Given the description of an element on the screen output the (x, y) to click on. 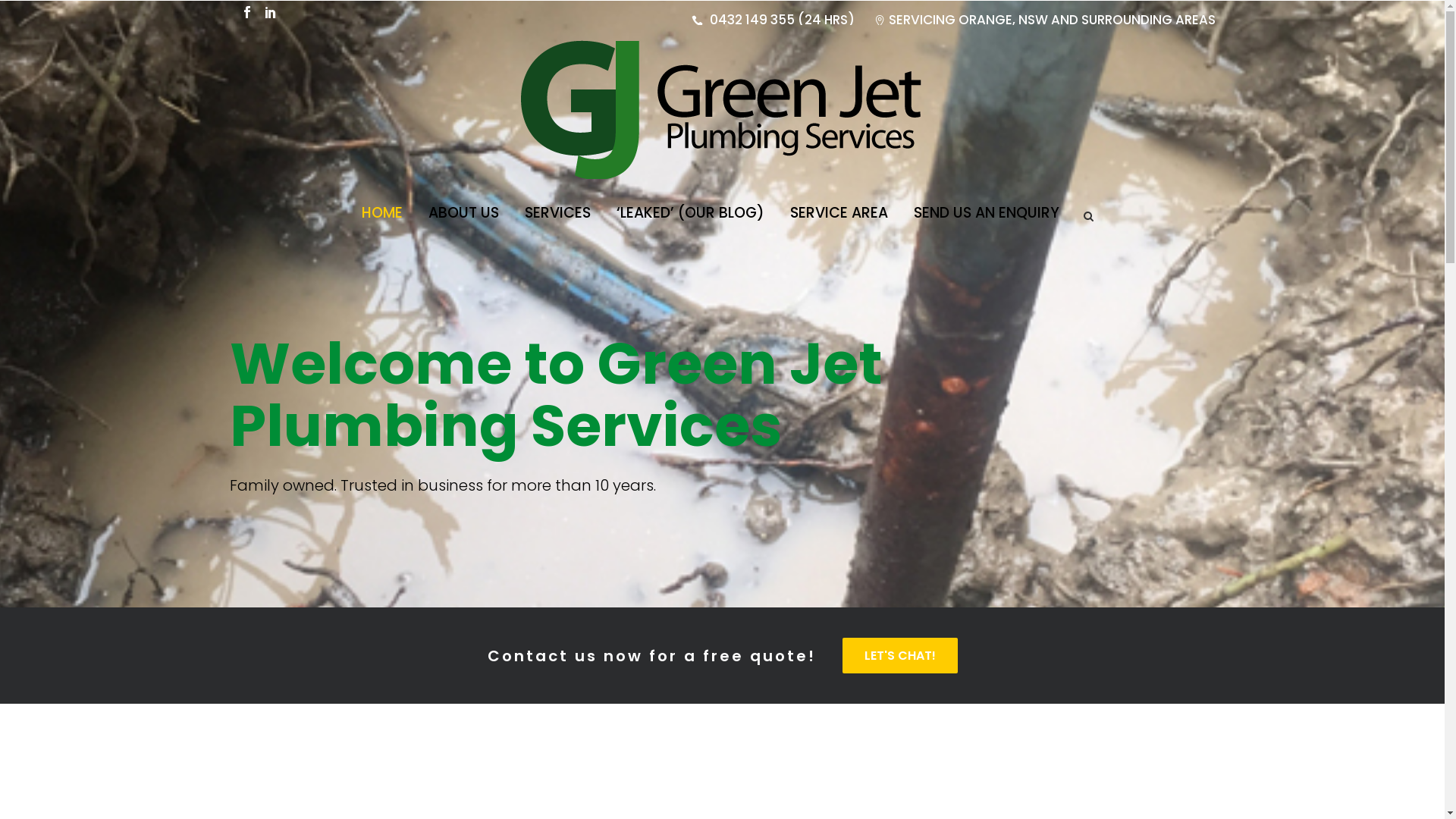
ABOUT US Element type: text (463, 212)
LET'S CHAT! Element type: text (899, 655)
SEND US AN ENQUIRY Element type: text (986, 212)
SERVICES Element type: text (556, 212)
SERVICE AREA Element type: text (838, 212)
HOME Element type: text (381, 212)
